Given the description of an element on the screen output the (x, y) to click on. 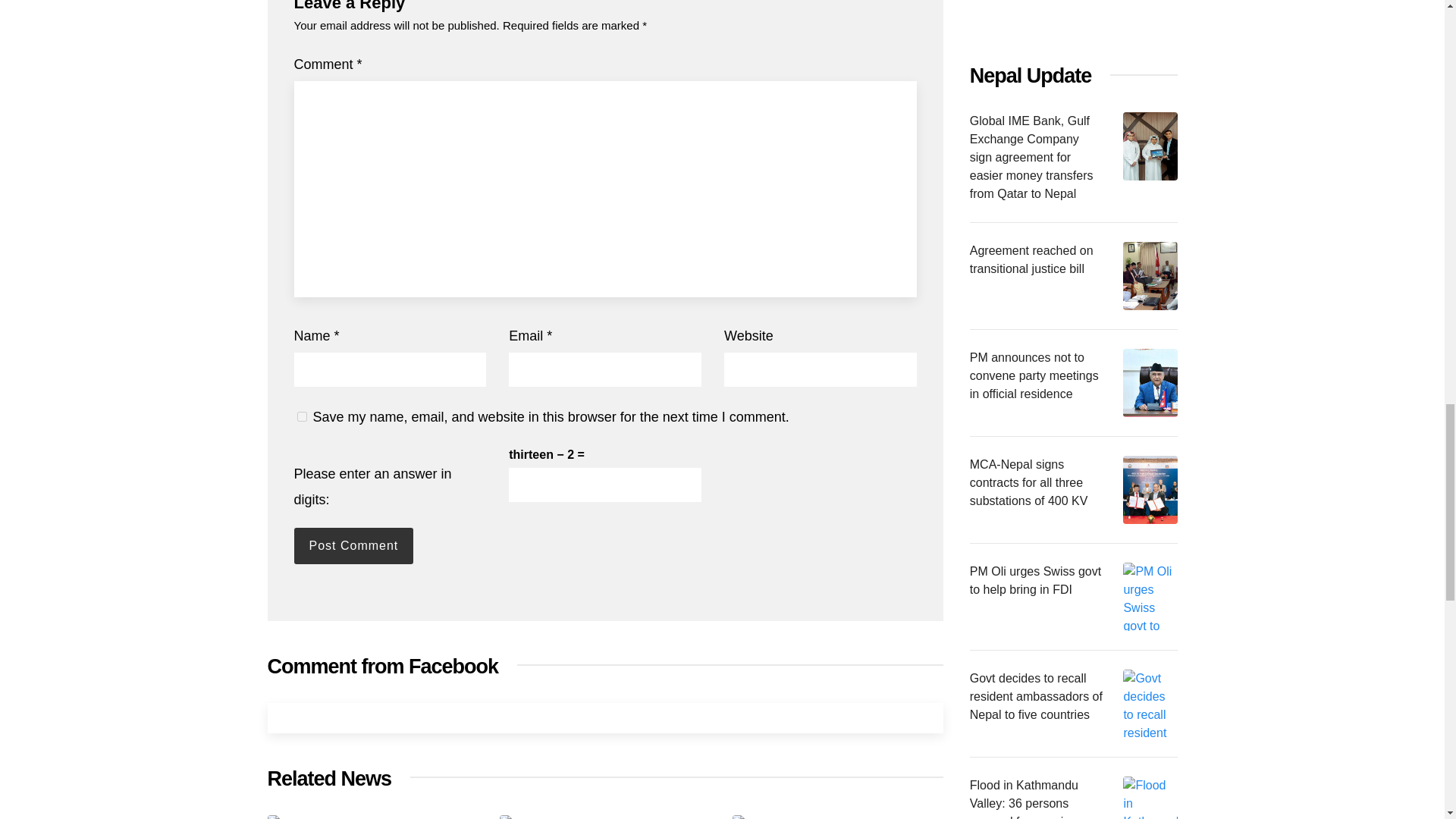
yes (302, 416)
Post Comment (353, 545)
